Given the description of an element on the screen output the (x, y) to click on. 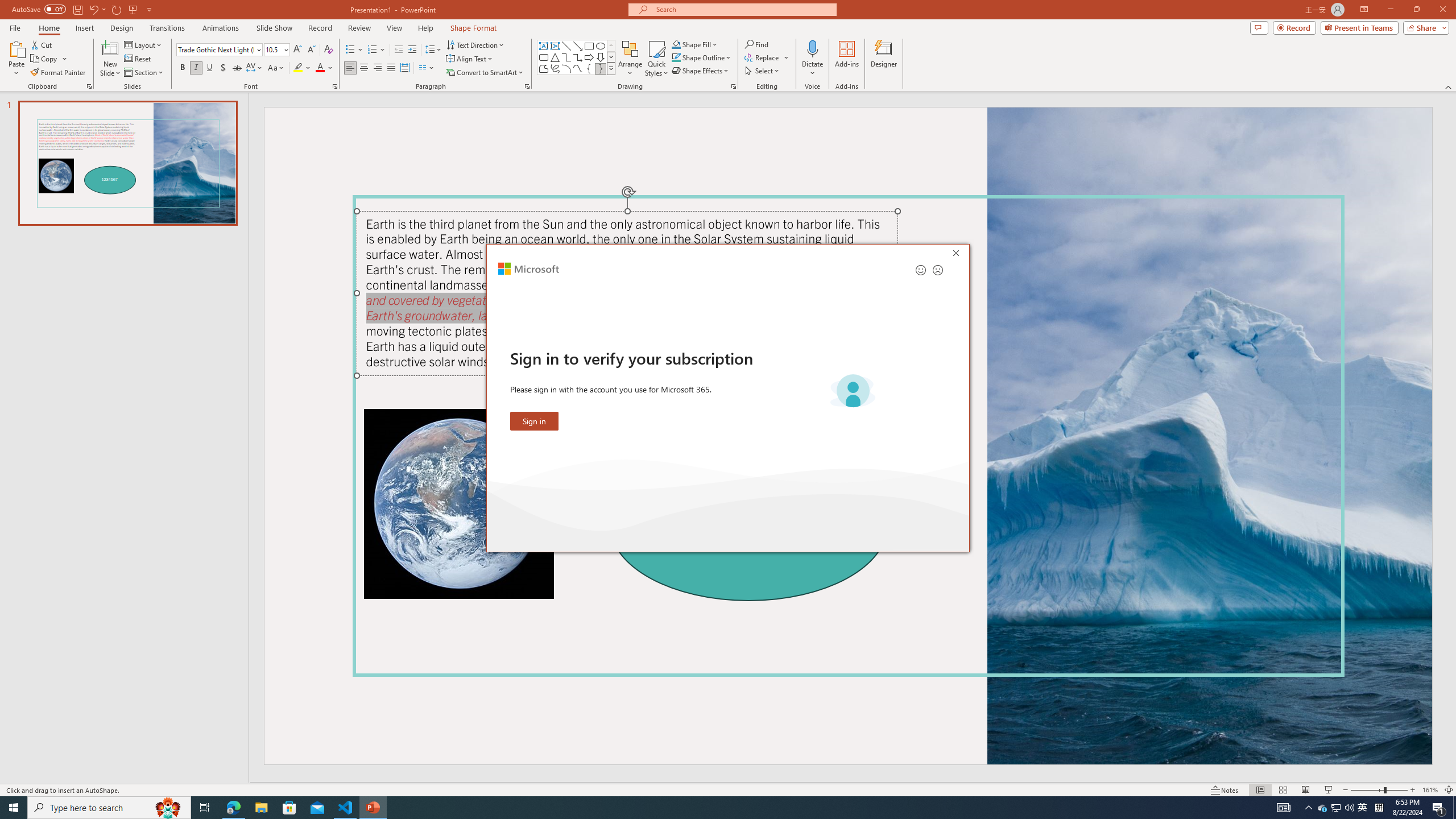
Right Brace (600, 68)
Oval (600, 45)
Convert to SmartArt (485, 72)
Shape Format (473, 28)
Align Left (349, 67)
